Given the description of an element on the screen output the (x, y) to click on. 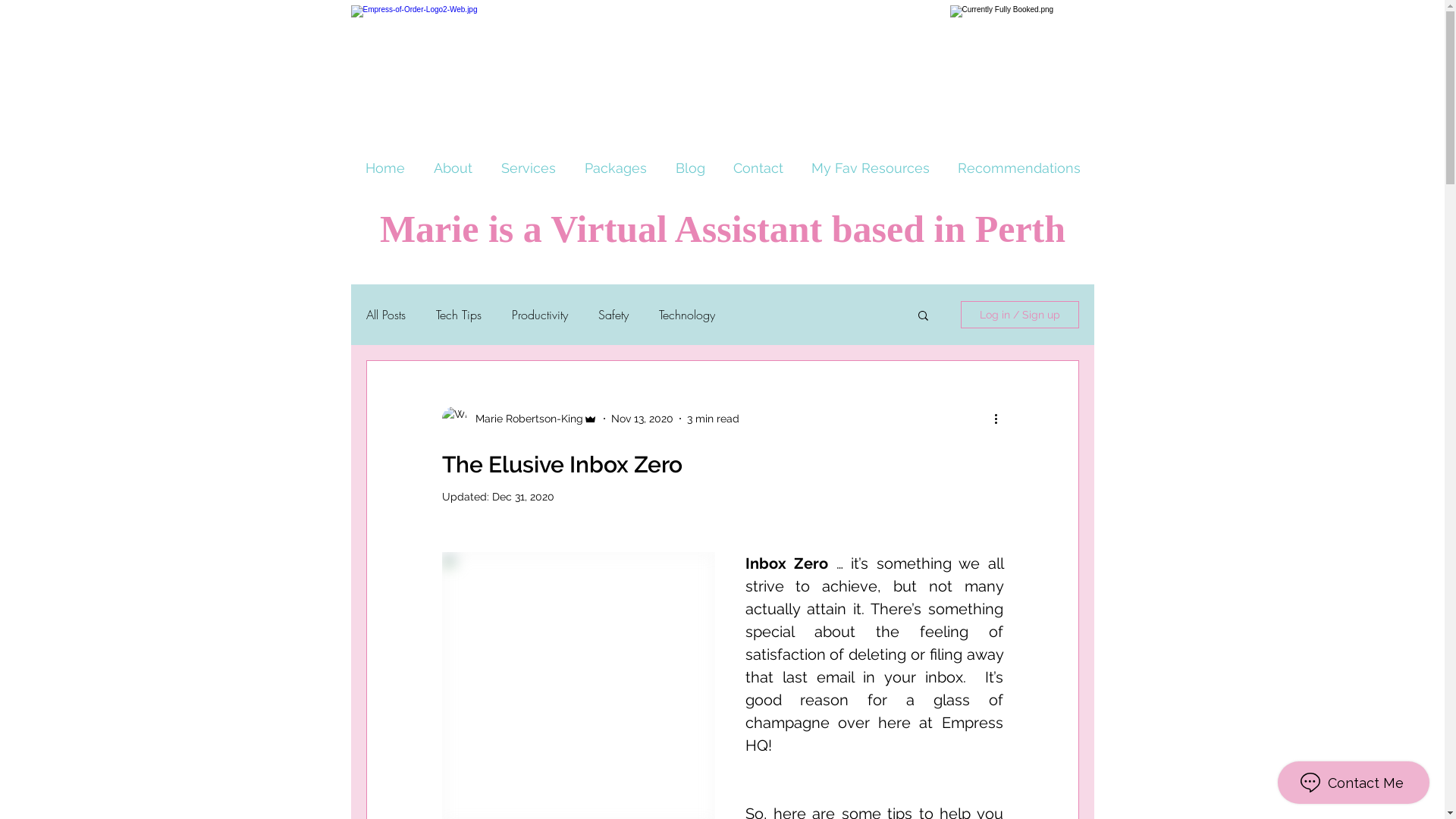
Packages Element type: text (615, 168)
Home Element type: text (384, 168)
Productivity Element type: text (539, 314)
Services Element type: text (528, 168)
Tech Tips Element type: text (457, 314)
Recommendations Element type: text (1018, 168)
Log in / Sign up Element type: text (1019, 314)
Technology Element type: text (686, 314)
Contact Element type: text (757, 168)
About Element type: text (452, 168)
Safety Element type: text (612, 314)
All Posts Element type: text (384, 314)
